Given the description of an element on the screen output the (x, y) to click on. 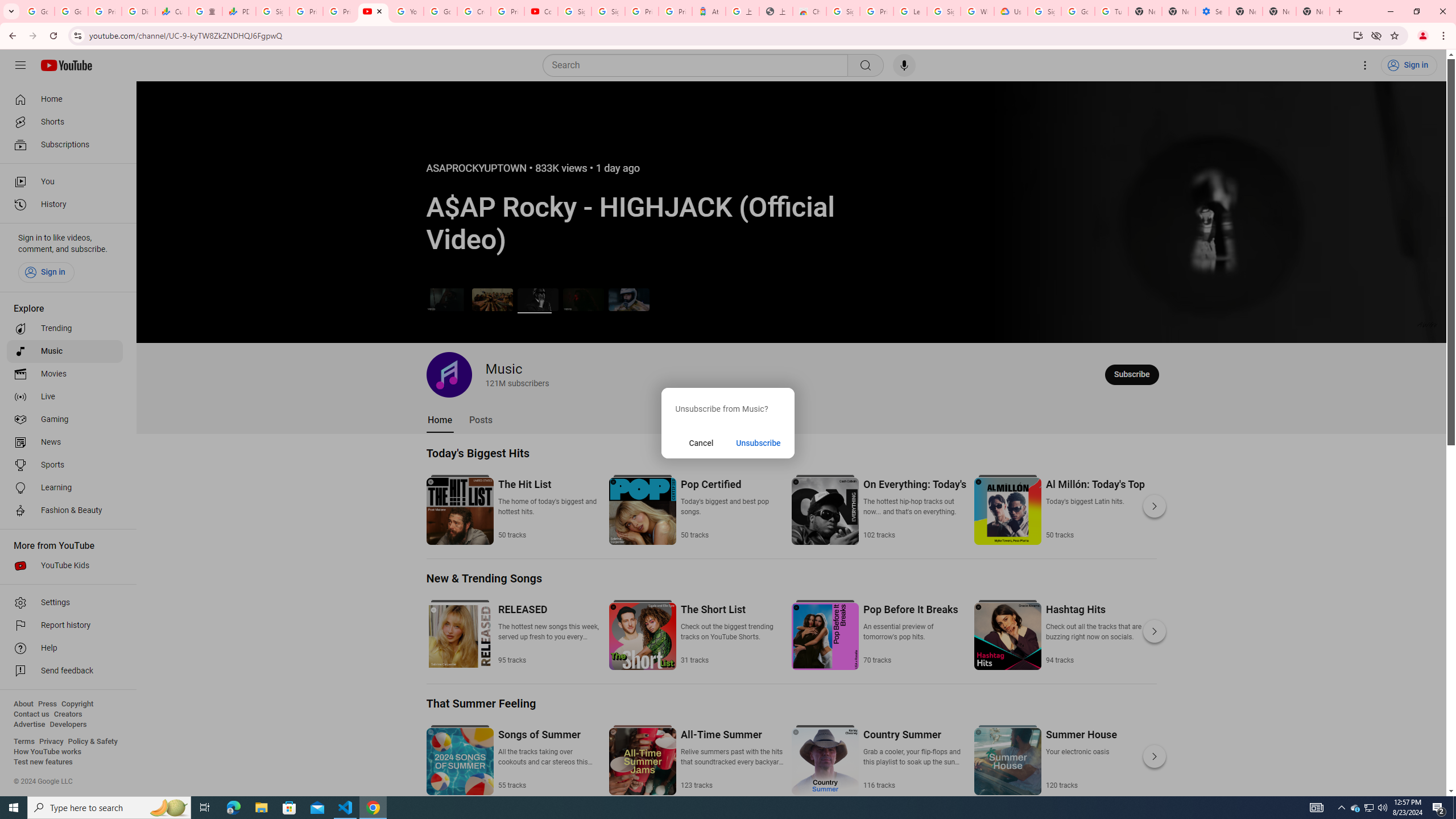
Report history (64, 625)
Posts (481, 420)
Advertise (29, 724)
Settings - Addresses and more (1212, 11)
Install YouTube (1358, 35)
Subscriptions (64, 144)
Search with your voice (903, 65)
